Given the description of an element on the screen output the (x, y) to click on. 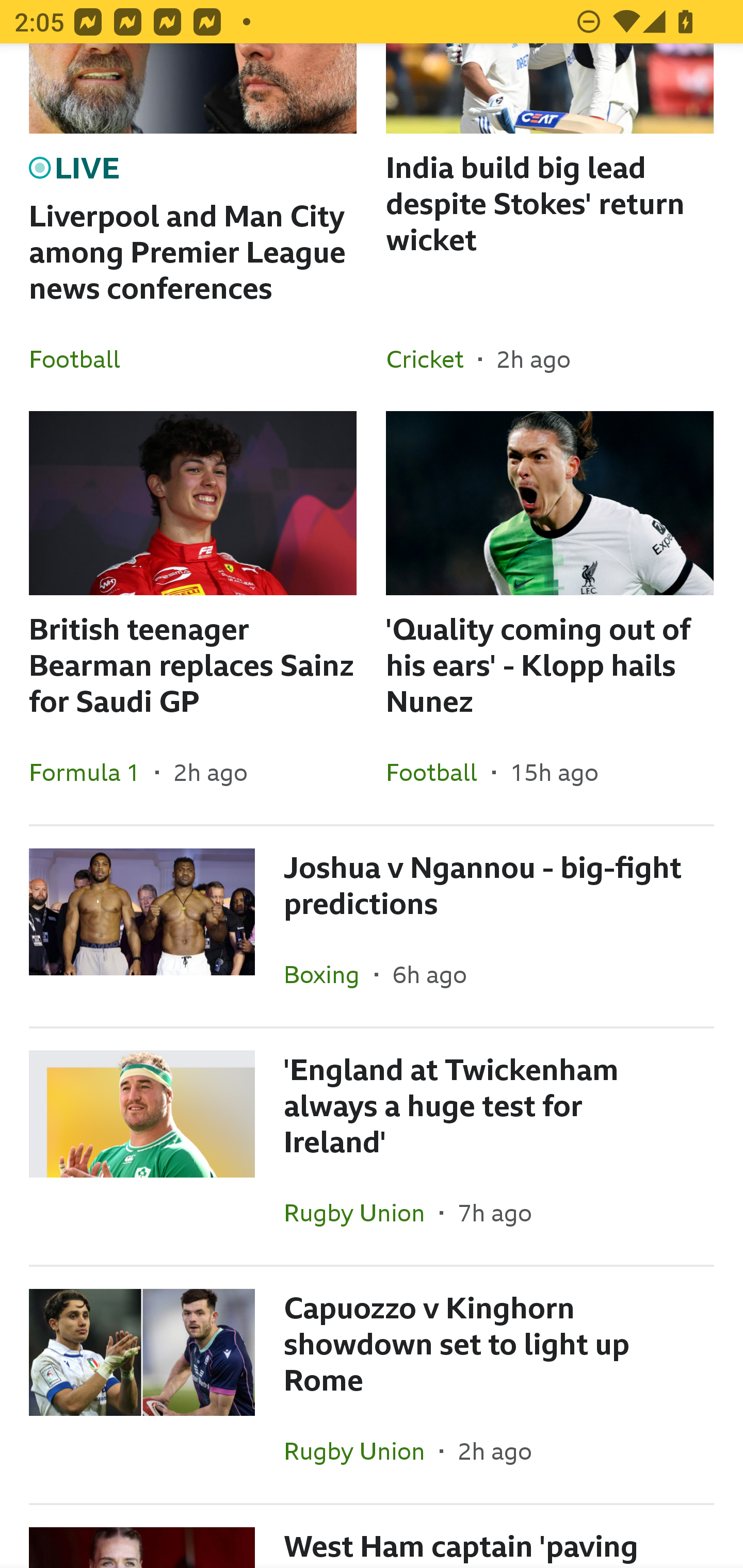
Football In the section Football (81, 358)
Cricket In the section Cricket (431, 358)
Formula 1 In the section Formula 1 (91, 771)
Football In the section Football (438, 771)
Boxing In the section Boxing (328, 974)
Rugby Union In the section Rugby Union (361, 1212)
Rugby Union In the section Rugby Union (361, 1450)
